Given the description of an element on the screen output the (x, y) to click on. 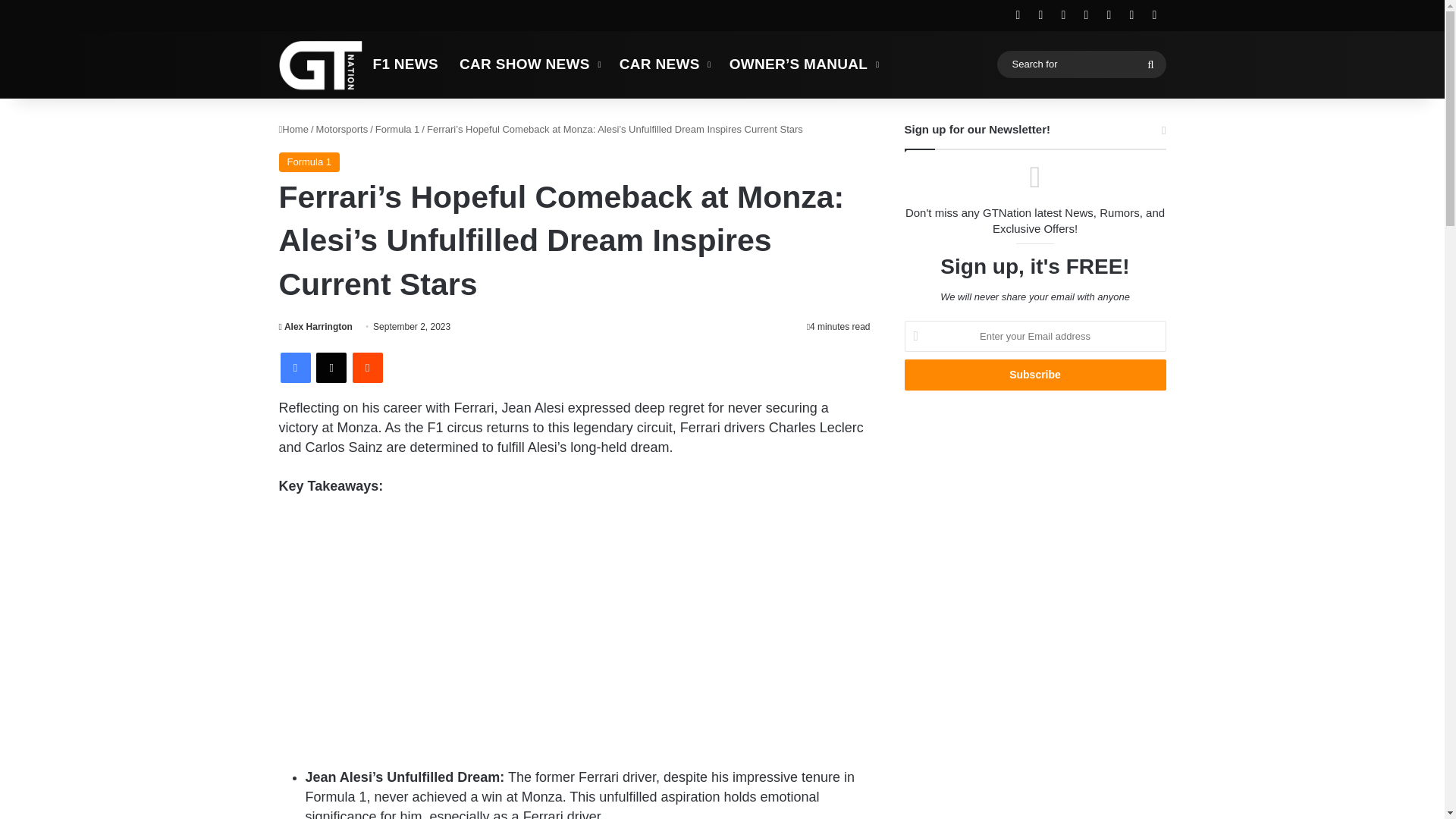
Facebook (296, 367)
Facebook (296, 367)
CAR NEWS (663, 64)
Search for (1150, 63)
Home (293, 129)
Formula 1 (397, 129)
Motorsports (341, 129)
Alex Harrington (315, 326)
Search for (1080, 63)
Formula 1 (309, 161)
